Given the description of an element on the screen output the (x, y) to click on. 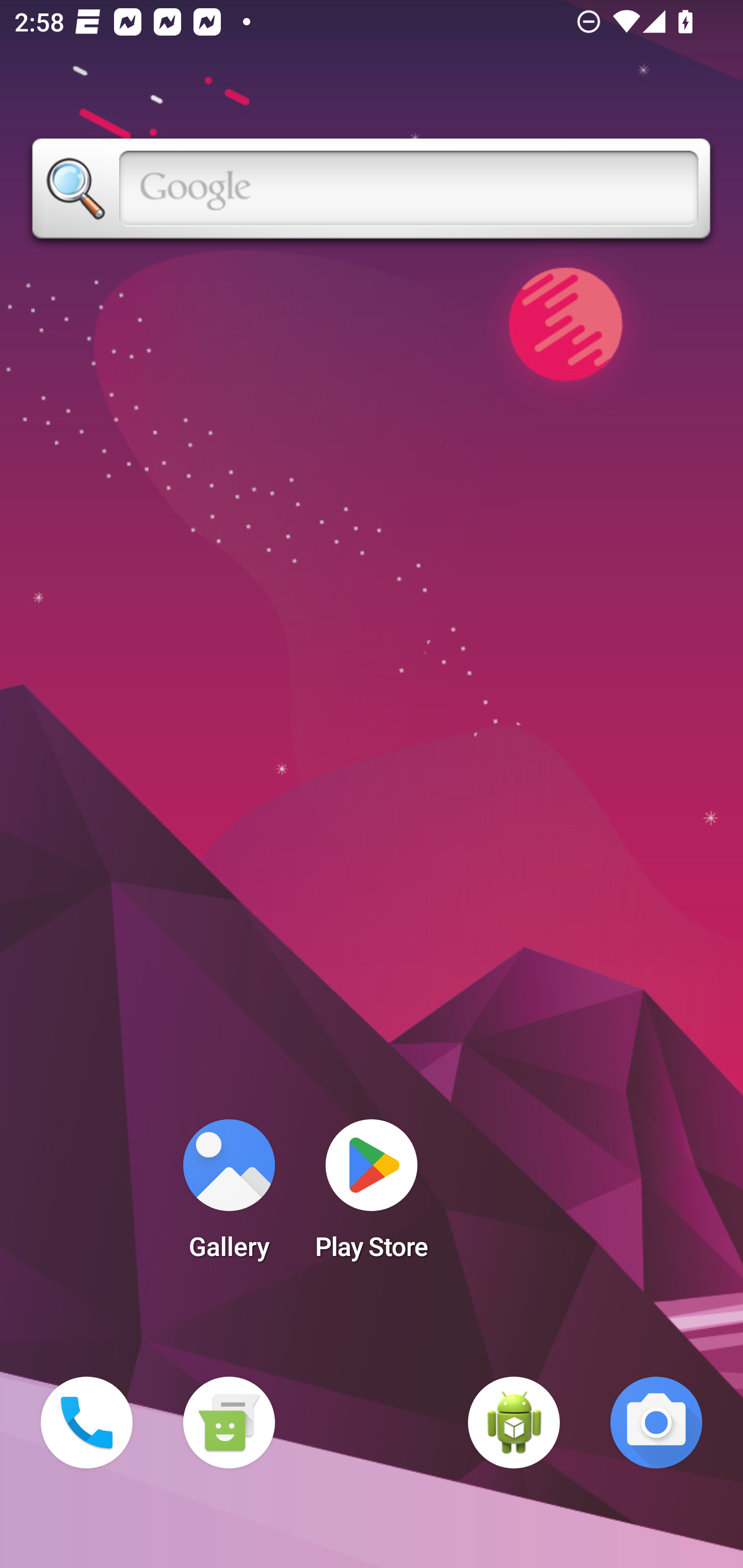
Gallery (228, 1195)
Play Store (371, 1195)
Phone (86, 1422)
Messaging (228, 1422)
WebView Browser Tester (513, 1422)
Camera (656, 1422)
